Given the description of an element on the screen output the (x, y) to click on. 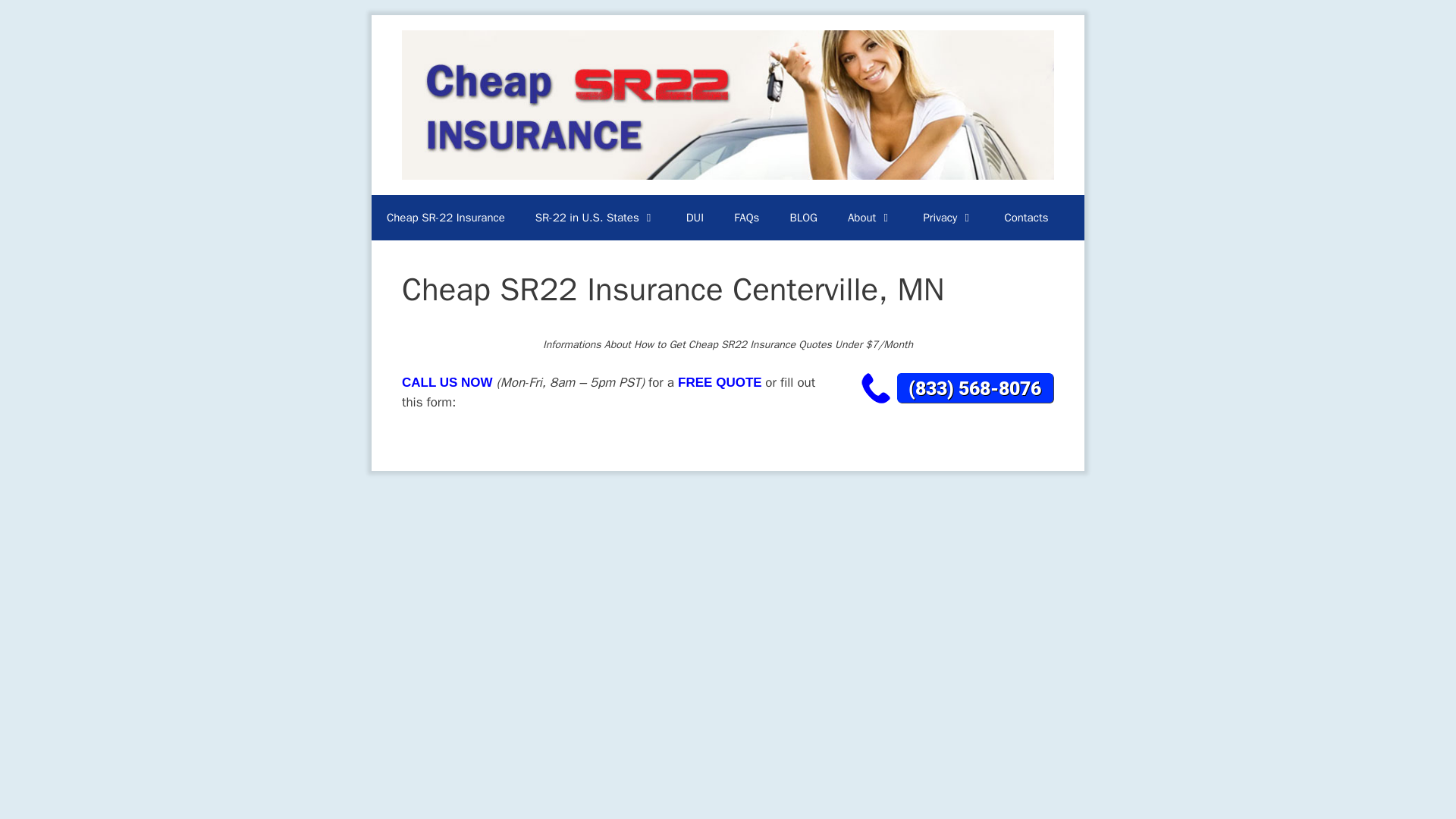
SR-22 in U.S. States (595, 217)
Call Us for a Free Quote (955, 388)
Cheap SR-22 Insurance (445, 217)
